Given the description of an element on the screen output the (x, y) to click on. 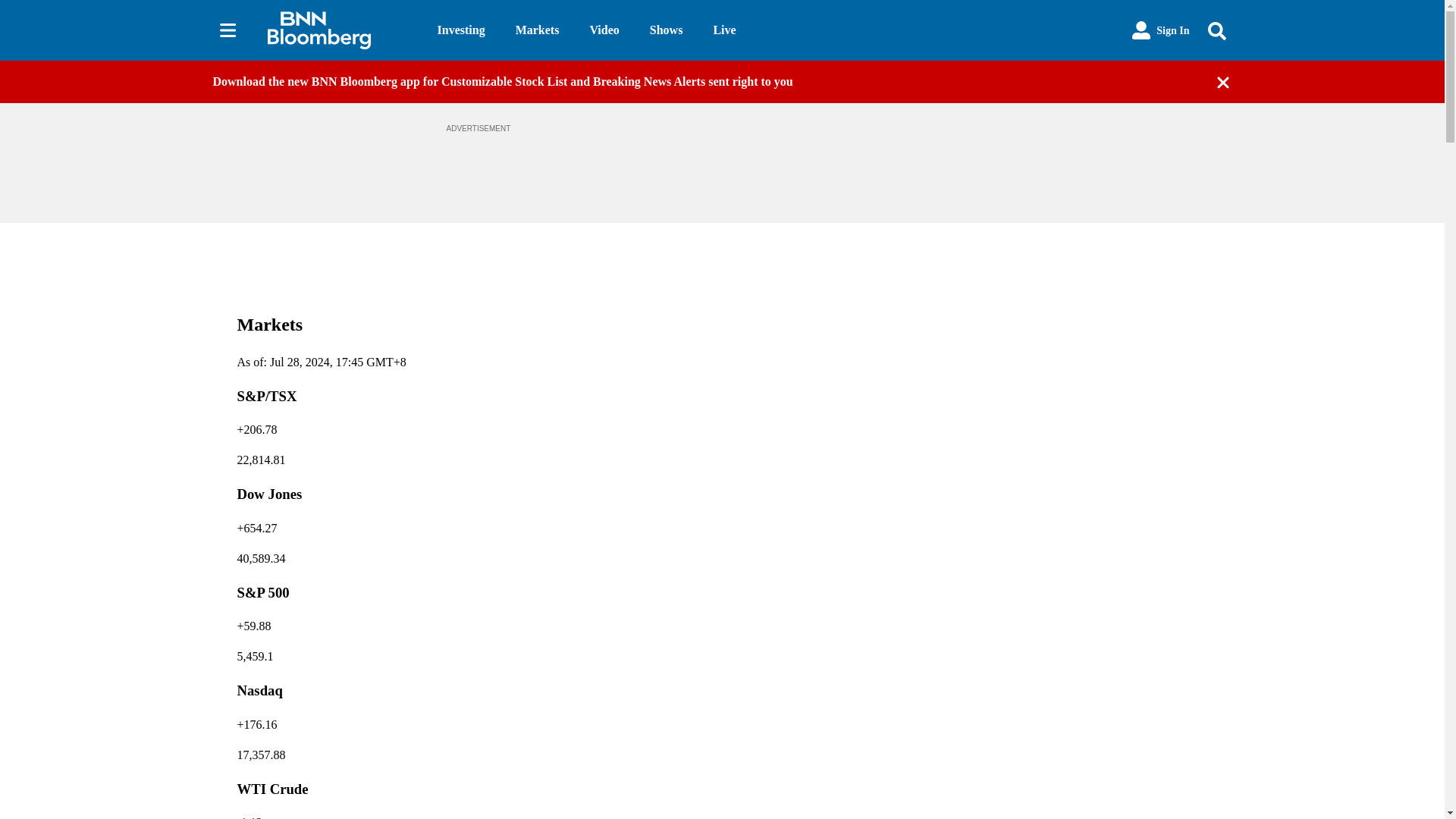
Live (724, 30)
Investing (460, 30)
Sign In (1160, 30)
Markets (537, 30)
BNN Bloomberg (339, 30)
Video (603, 30)
Sections (227, 30)
Shows (665, 30)
